Given the description of an element on the screen output the (x, y) to click on. 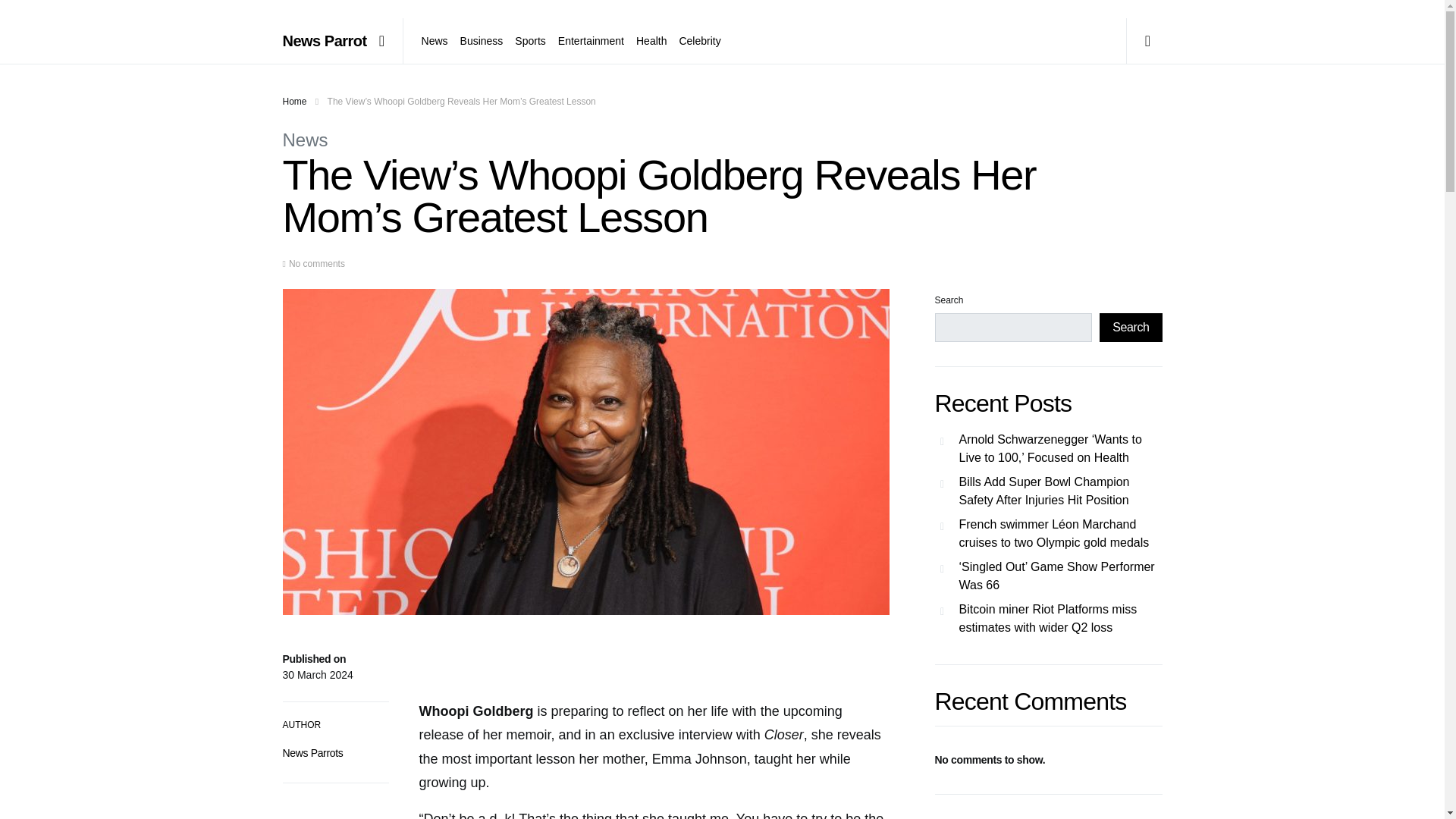
News Parrots (312, 752)
News (304, 139)
Home (293, 101)
No comments (316, 264)
Sports (529, 40)
Health (651, 40)
News Parrot (324, 40)
Entertainment (590, 40)
Celebrity (696, 40)
Business (481, 40)
